Given the description of an element on the screen output the (x, y) to click on. 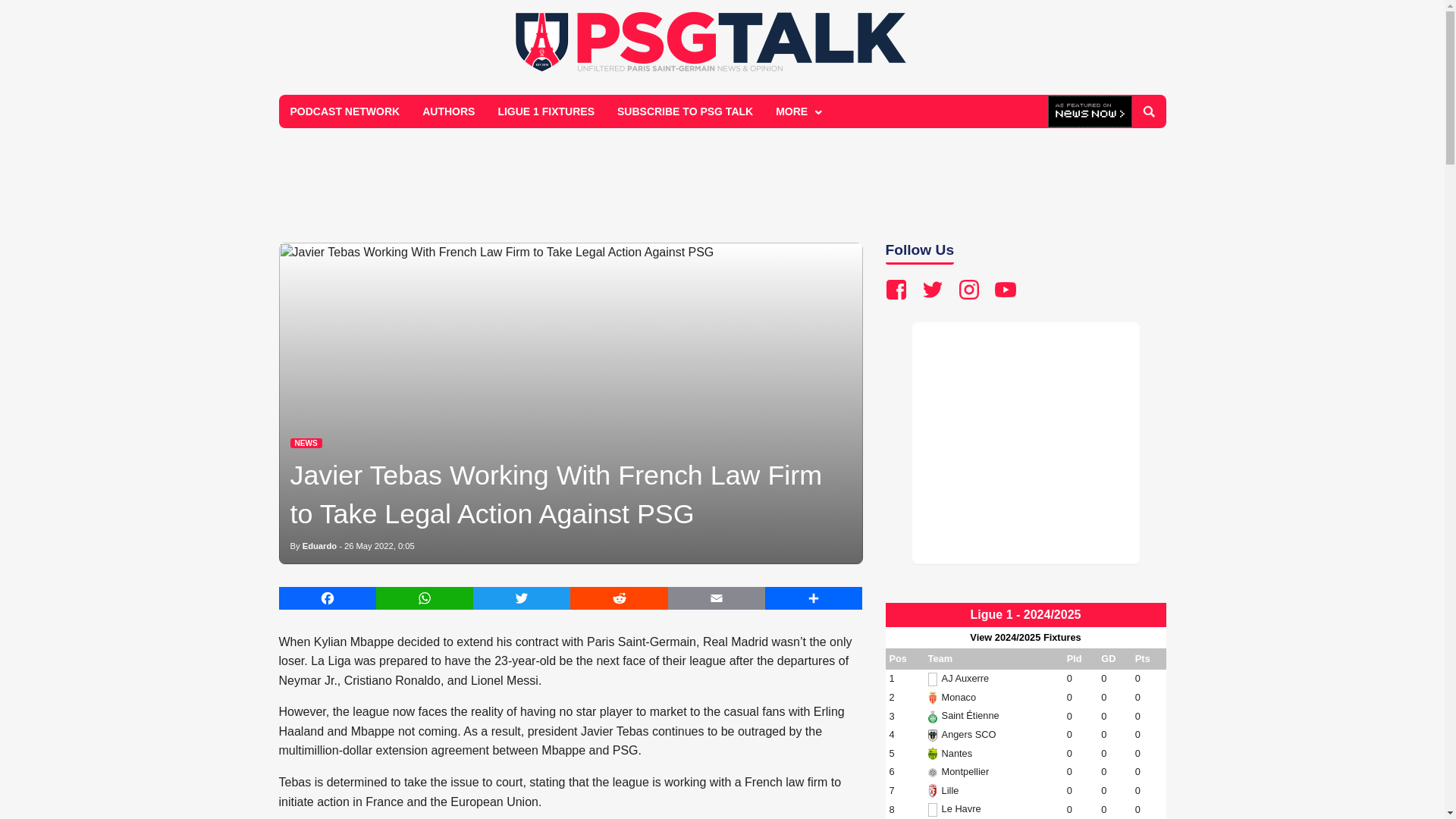
NEWS (305, 442)
MORE (796, 111)
Twitter (521, 598)
LIGUE 1 FIXTURES (545, 111)
PODCAST NETWORK (345, 111)
Latest News News (305, 442)
Email (716, 598)
Twitter (521, 598)
WhatsApp (424, 598)
Reddit (618, 598)
Email (716, 598)
Search (1147, 111)
Facebook (327, 598)
Facebook (327, 598)
